Given the description of an element on the screen output the (x, y) to click on. 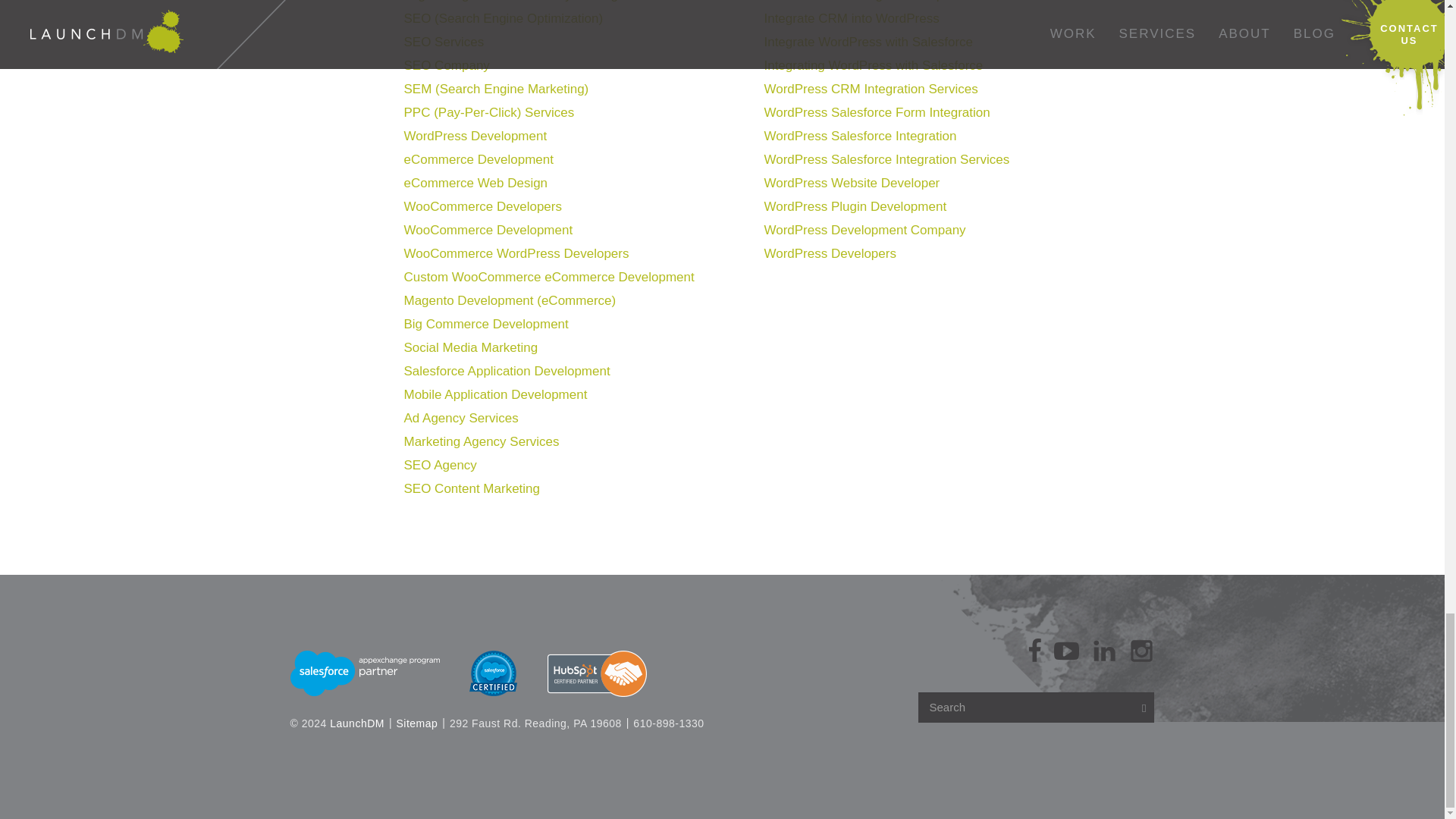
eCommerce Web Design (475, 183)
Custom WooCommerce eCommerce Development (548, 277)
WooCommerce Development (487, 229)
SEO Services (443, 42)
WooCommerce WordPress Developers (515, 253)
eCommerce Development (478, 159)
WordPress Development (475, 135)
WooCommerce Developers (481, 206)
SEO Company (446, 65)
